Given the description of an element on the screen output the (x, y) to click on. 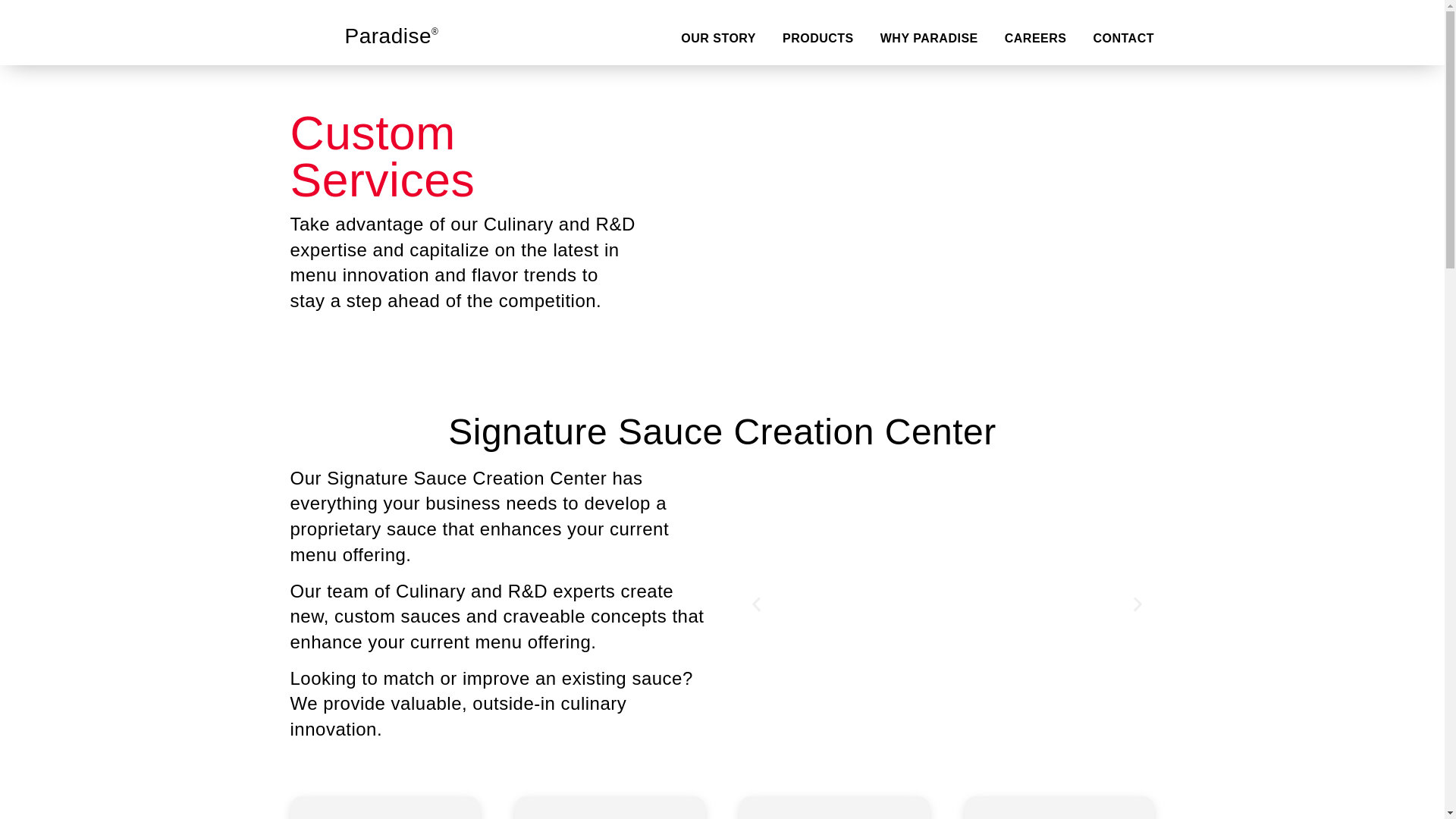
CAREERS (1035, 38)
PRODUCTS (818, 38)
CONTACT (1123, 38)
OUR STORY (718, 38)
WHY PARADISE (929, 38)
